Given the description of an element on the screen output the (x, y) to click on. 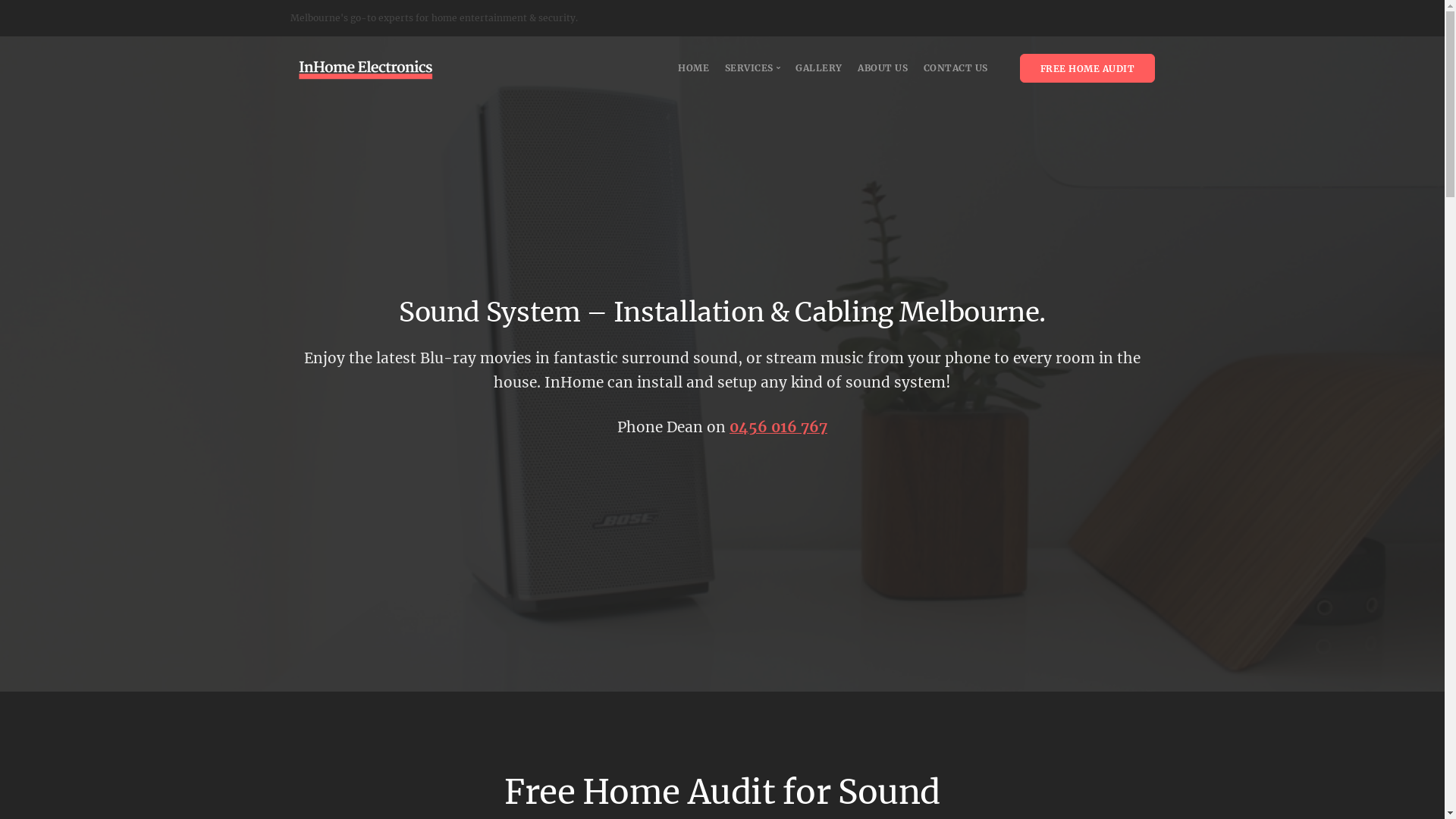
ABOUT US Element type: text (882, 67)
0456 016 767 Element type: text (778, 426)
HOME Element type: text (693, 67)
GALLERY Element type: text (818, 67)
SERVICES Element type: text (752, 67)
FREE HOME AUDIT Element type: text (1086, 67)
CONTACT US Element type: text (955, 67)
